Given the description of an element on the screen output the (x, y) to click on. 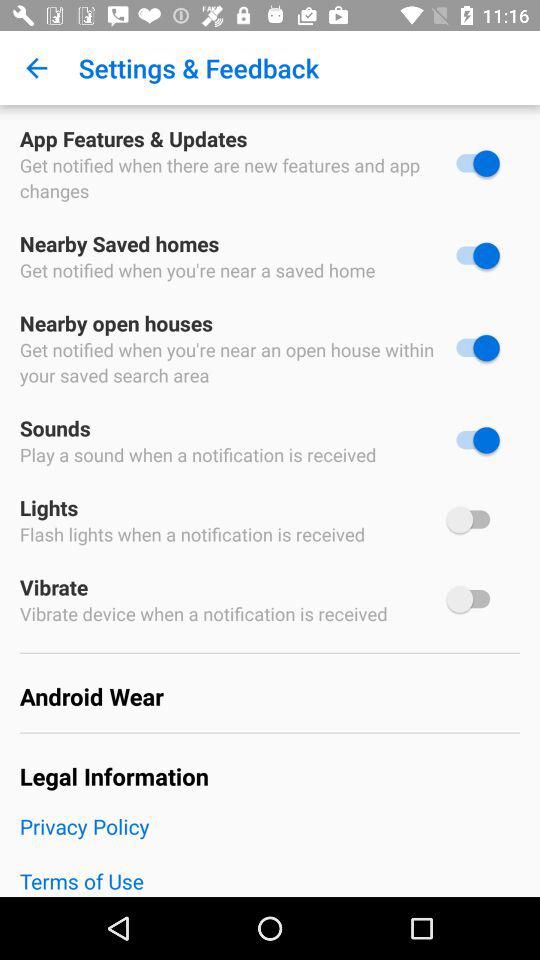
switch autoplay option (473, 519)
